Given the description of an element on the screen output the (x, y) to click on. 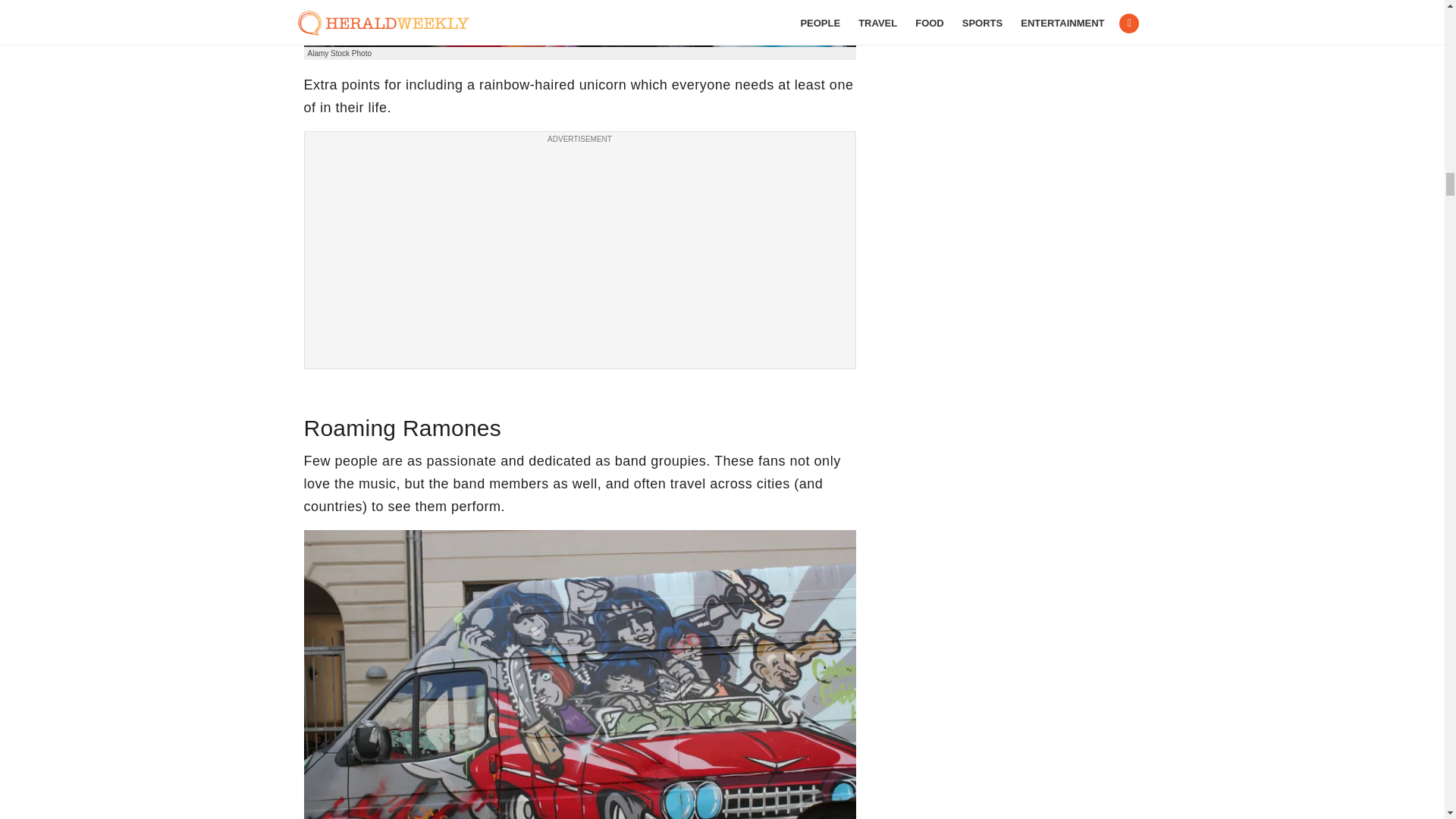
All We Are Saying Is Give Peace a Van (579, 23)
